Given the description of an element on the screen output the (x, y) to click on. 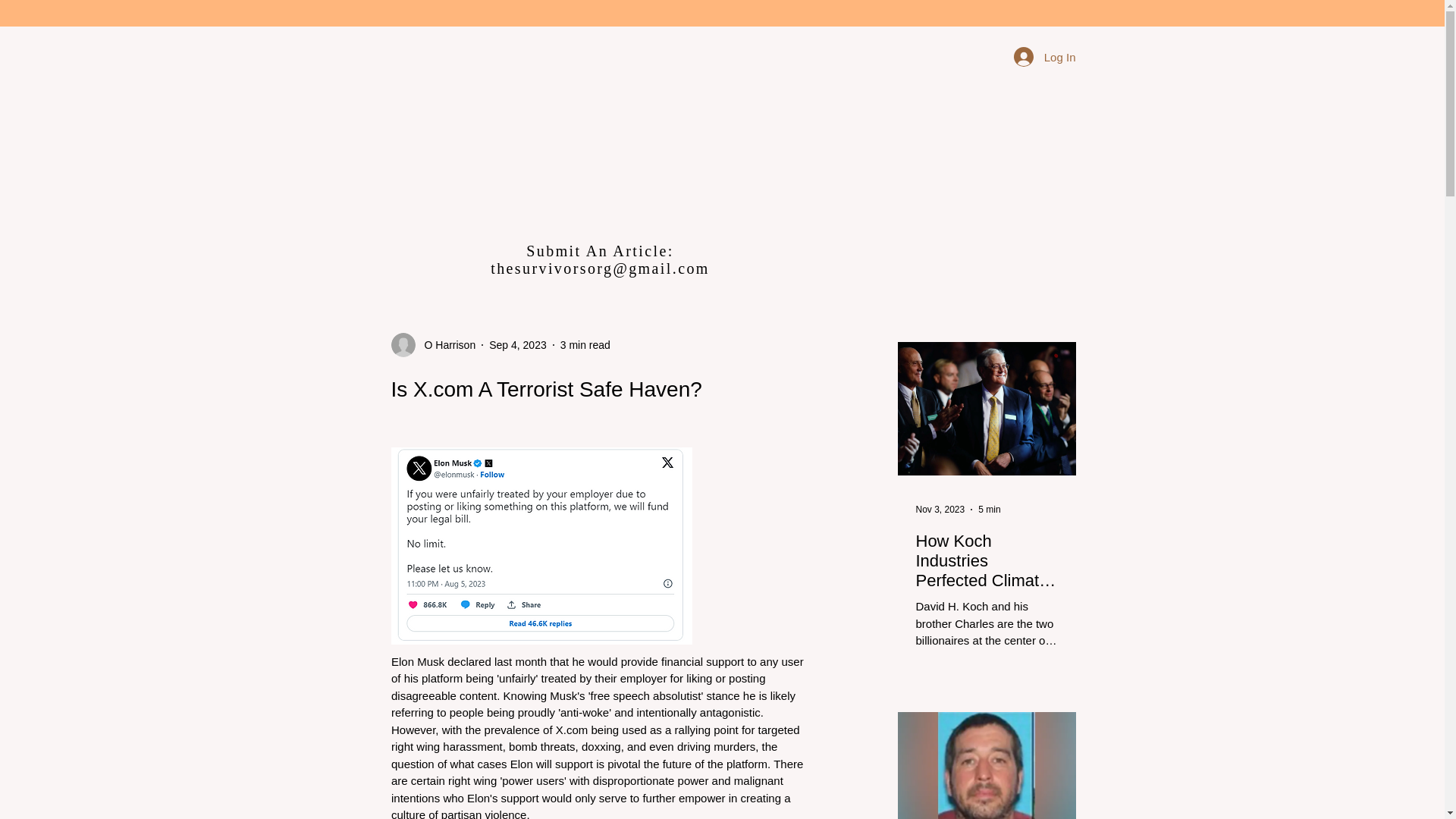
3 min read (585, 344)
Log In (1044, 56)
Nov 3, 2023 (940, 509)
Sep 4, 2023 (518, 344)
O Harrison (445, 344)
5 min (989, 509)
O Harrison (433, 344)
